Given the description of an element on the screen output the (x, y) to click on. 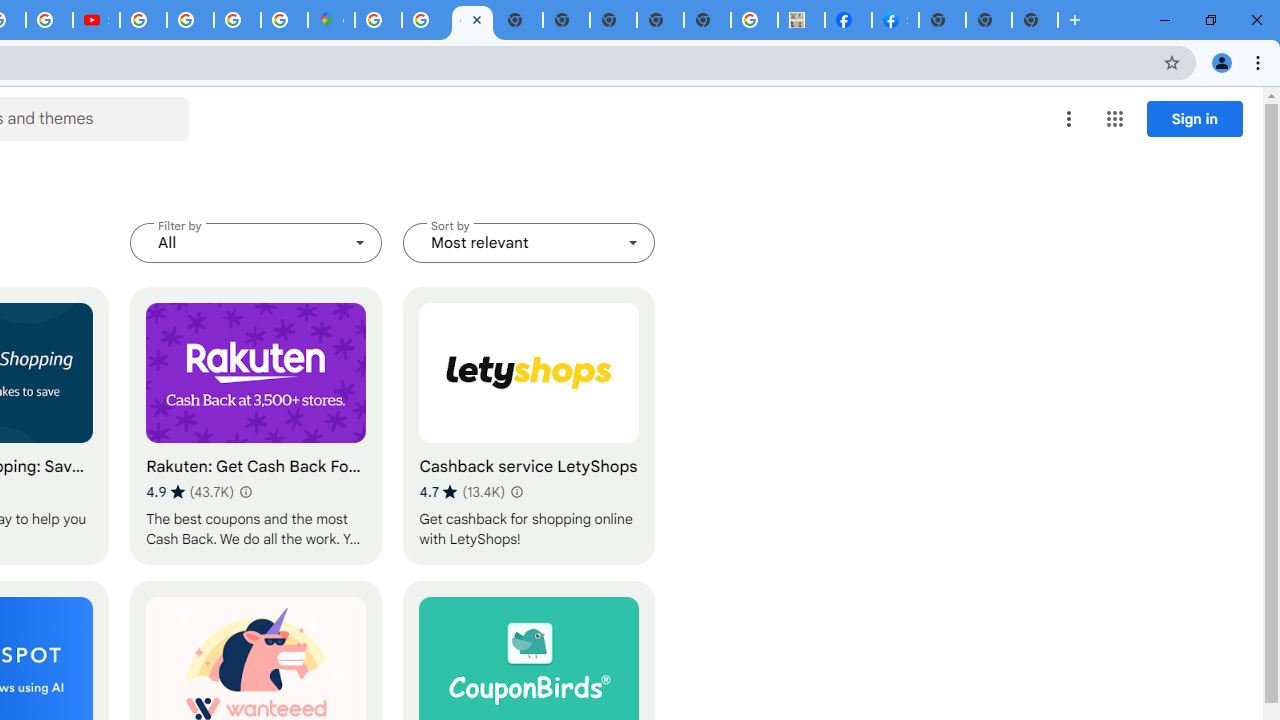
Rakuten: Get Cash Back For Shopping (256, 426)
Miley Cyrus | Facebook (848, 20)
Sort by Most relevant (529, 242)
New Tab (1035, 20)
Subscriptions - YouTube (96, 20)
Average rating 4.7 out of 5 stars. 13.4K ratings. (461, 491)
Average rating 4.9 out of 5 stars. 43.7K ratings. (190, 491)
Filter by All (256, 242)
